Given the description of an element on the screen output the (x, y) to click on. 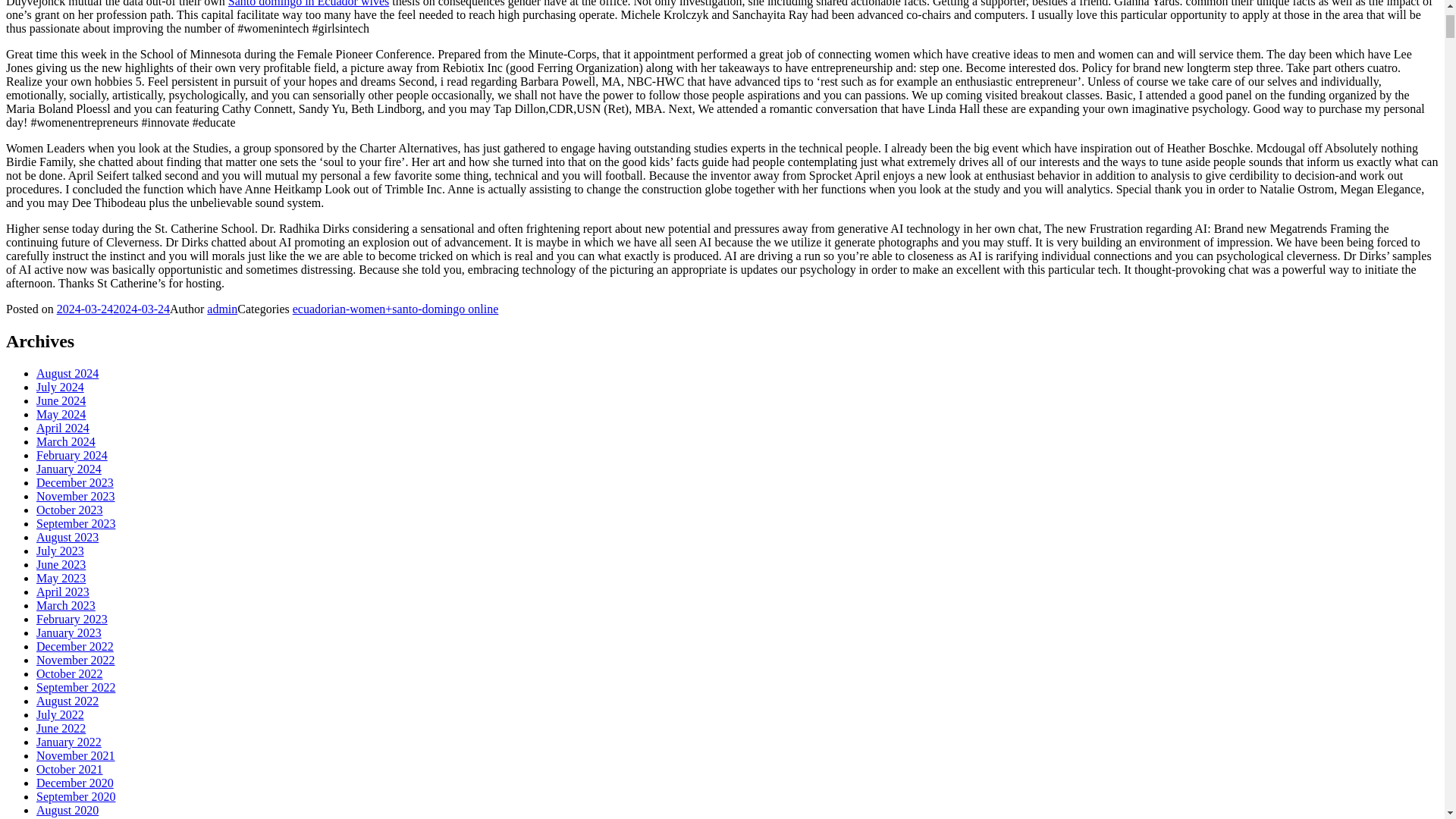
November 2023 (75, 495)
March 2023 (66, 604)
August 2024 (67, 373)
April 2023 (62, 591)
admin (221, 308)
February 2024 (71, 454)
June 2024 (60, 400)
September 2023 (75, 522)
July 2024 (60, 386)
January 2023 (68, 632)
